Given the description of an element on the screen output the (x, y) to click on. 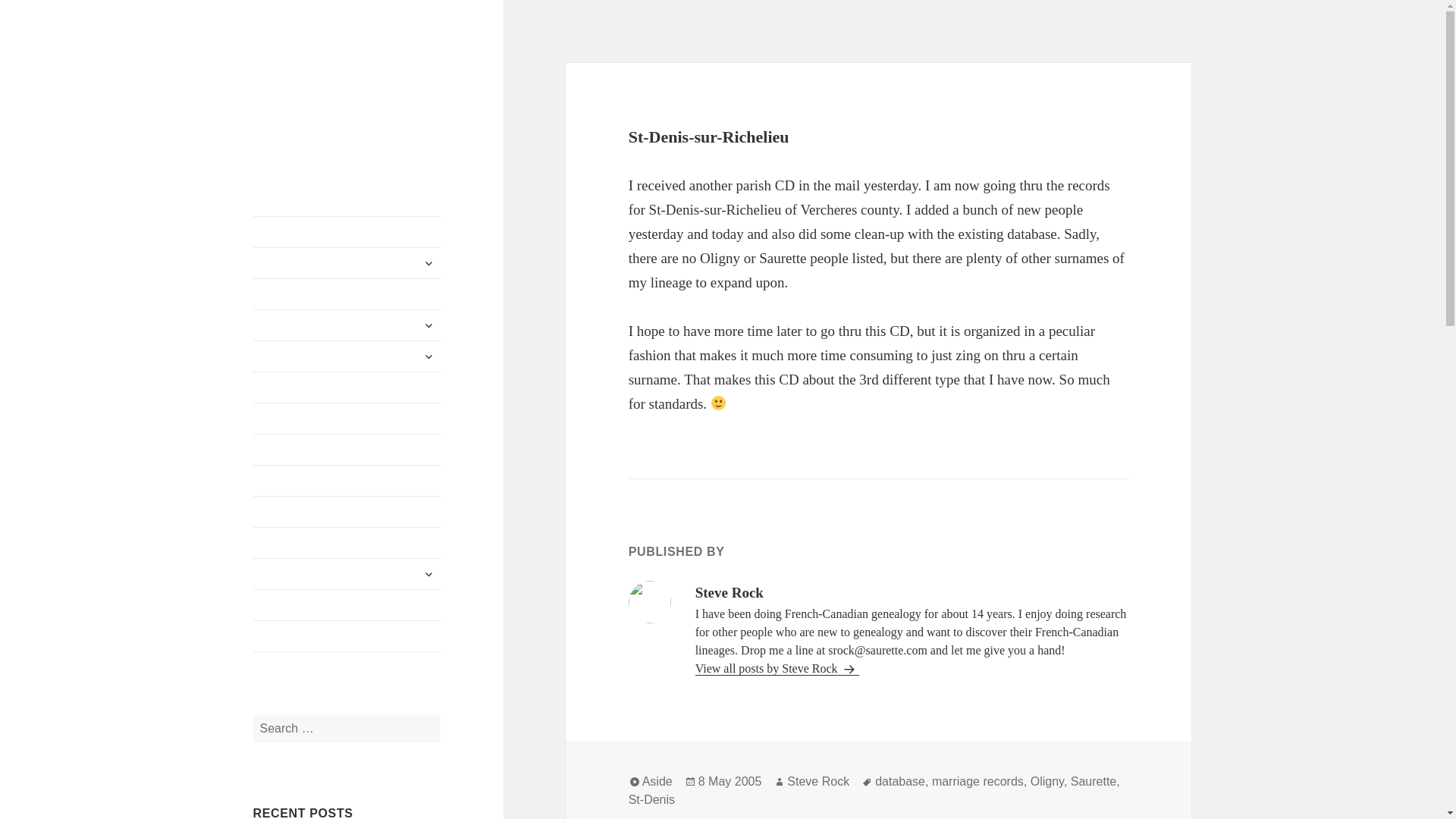
Saurette Ancestry (347, 263)
All my Genealogy Information (347, 387)
Saurette and Oligny Genealogy (340, 86)
My Oligny Ancestral Line (347, 294)
expand child menu (428, 262)
My Saurette Ancestral Line (347, 232)
expand child menu (428, 324)
Oligny Ancestry (347, 325)
